Given the description of an element on the screen output the (x, y) to click on. 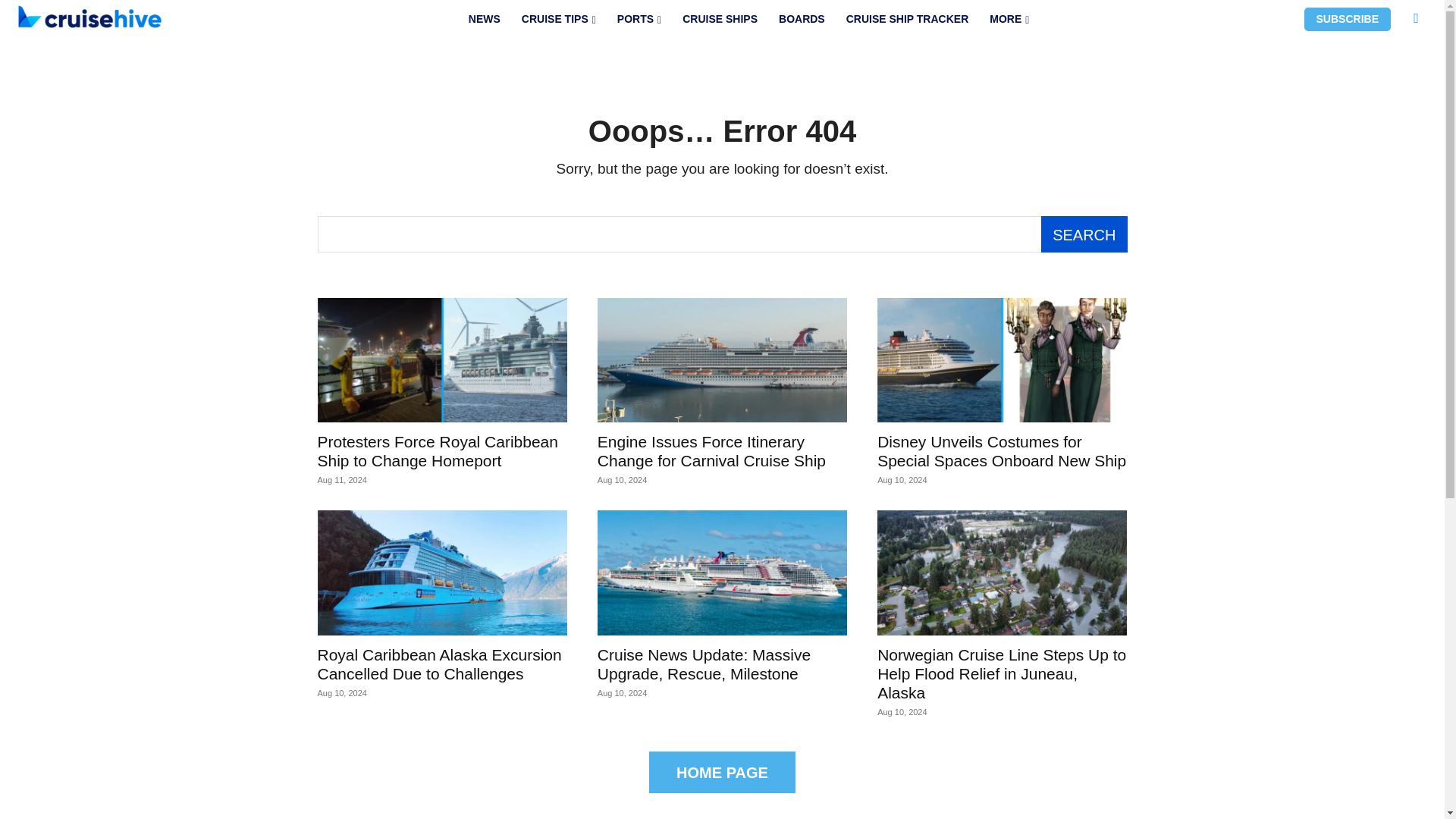
SUBSCRIBE (1347, 19)
Protesters Force Royal Caribbean Ship to Change Homeport (437, 451)
Royal Caribbean Alaska Excursion Cancelled Due to Challenges (441, 572)
Royal Caribbean Alaska Excursion Cancelled Due to Challenges (438, 664)
Cruise News Update: Massive Upgrade, Rescue, Milestone (721, 572)
PORTS (639, 19)
